Given the description of an element on the screen output the (x, y) to click on. 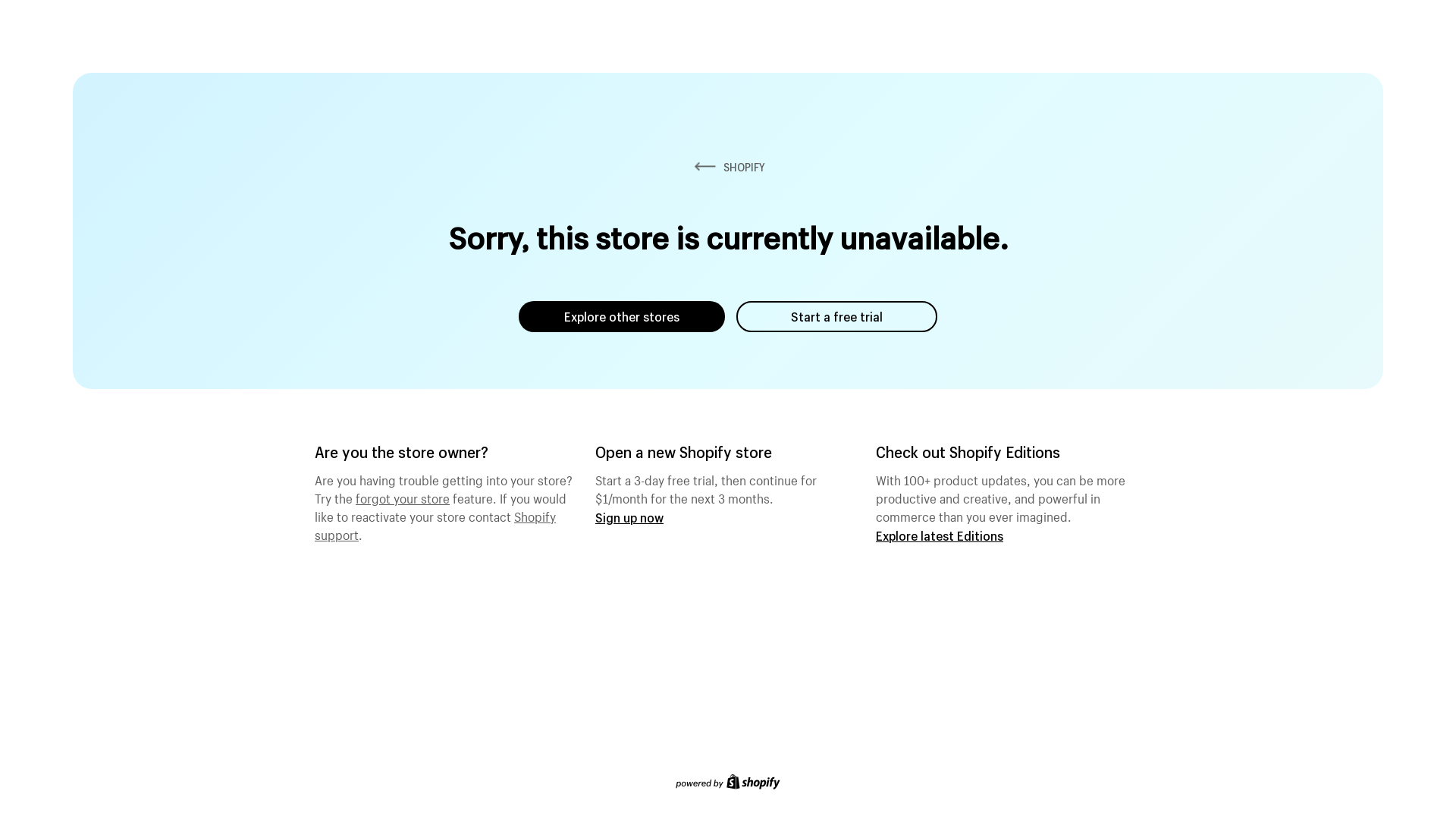
SHOPIFY Element type: text (727, 167)
Sign up now Element type: text (629, 517)
forgot your store Element type: text (402, 496)
Start a free trial Element type: text (836, 316)
Explore latest Editions Element type: text (939, 535)
Explore other stores Element type: text (621, 316)
Shopify support Element type: text (434, 523)
